Given the description of an element on the screen output the (x, y) to click on. 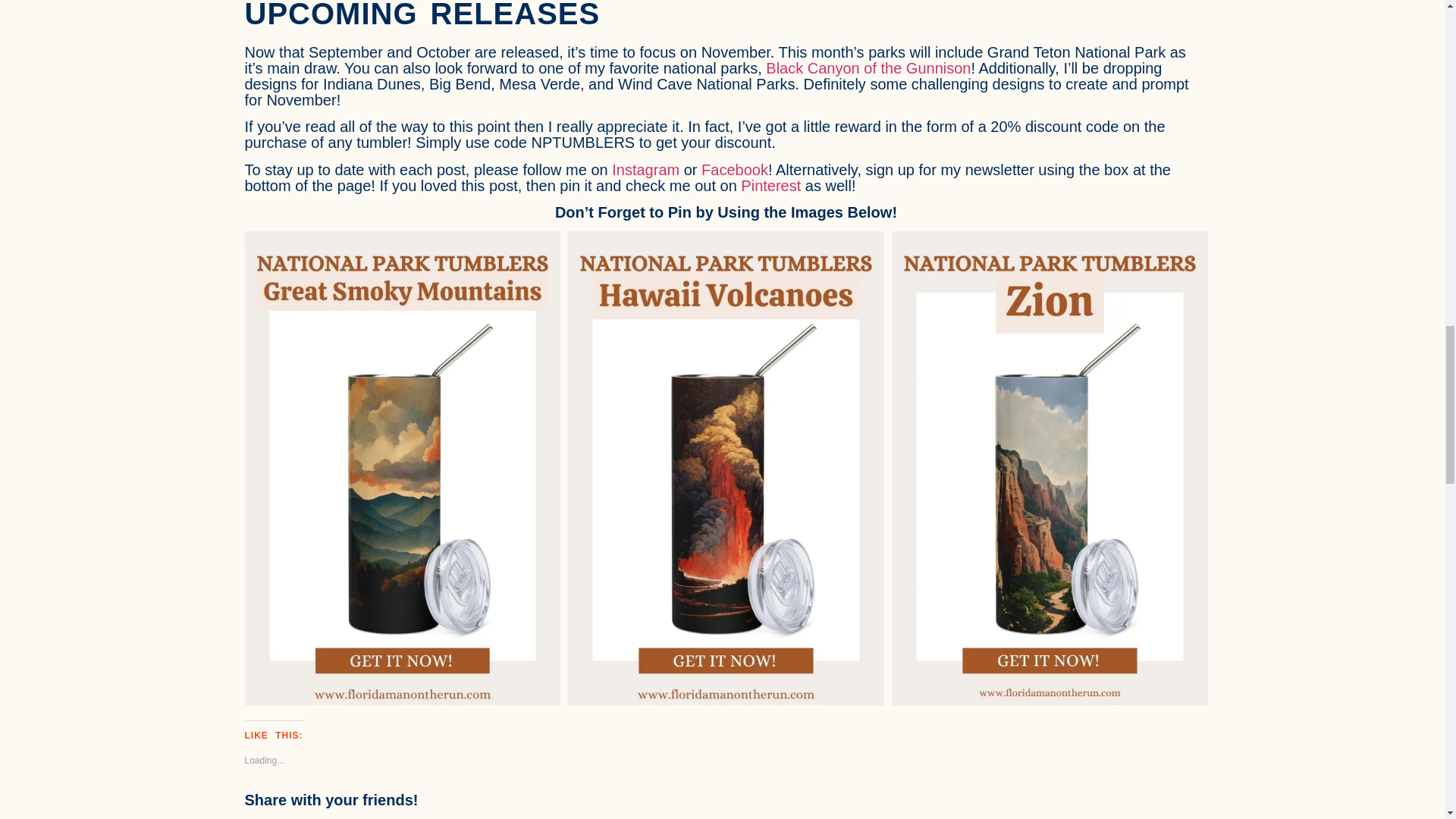
Facebook (734, 169)
Pinterest (770, 185)
Black Canyon of the Gunnison (868, 67)
Instagram (645, 169)
